Given the description of an element on the screen output the (x, y) to click on. 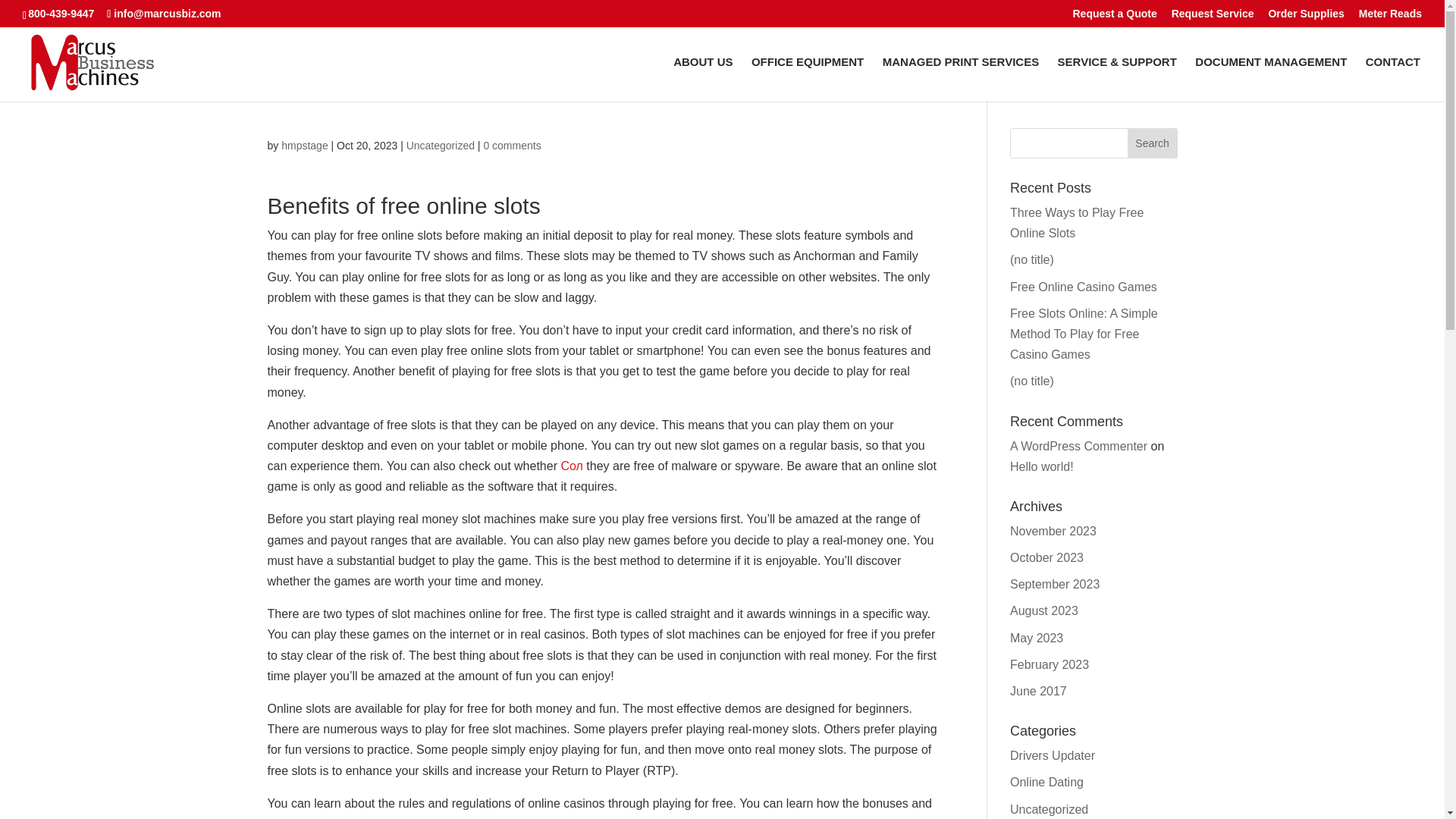
Search (1151, 142)
Three Ways to Play Free Online Slots (1076, 222)
Request Service (1212, 16)
October 2023 (1046, 557)
0 comments (511, 145)
ABOUT US (702, 78)
MANAGED PRINT SERVICES (960, 78)
A WordPress Commenter (1078, 445)
Request a Quote (1113, 16)
Free Online Casino Games (1083, 286)
Uncategorized (440, 145)
OFFICE EQUIPMENT (807, 78)
hmpstage (304, 145)
Posts by hmpstage (304, 145)
